Given the description of an element on the screen output the (x, y) to click on. 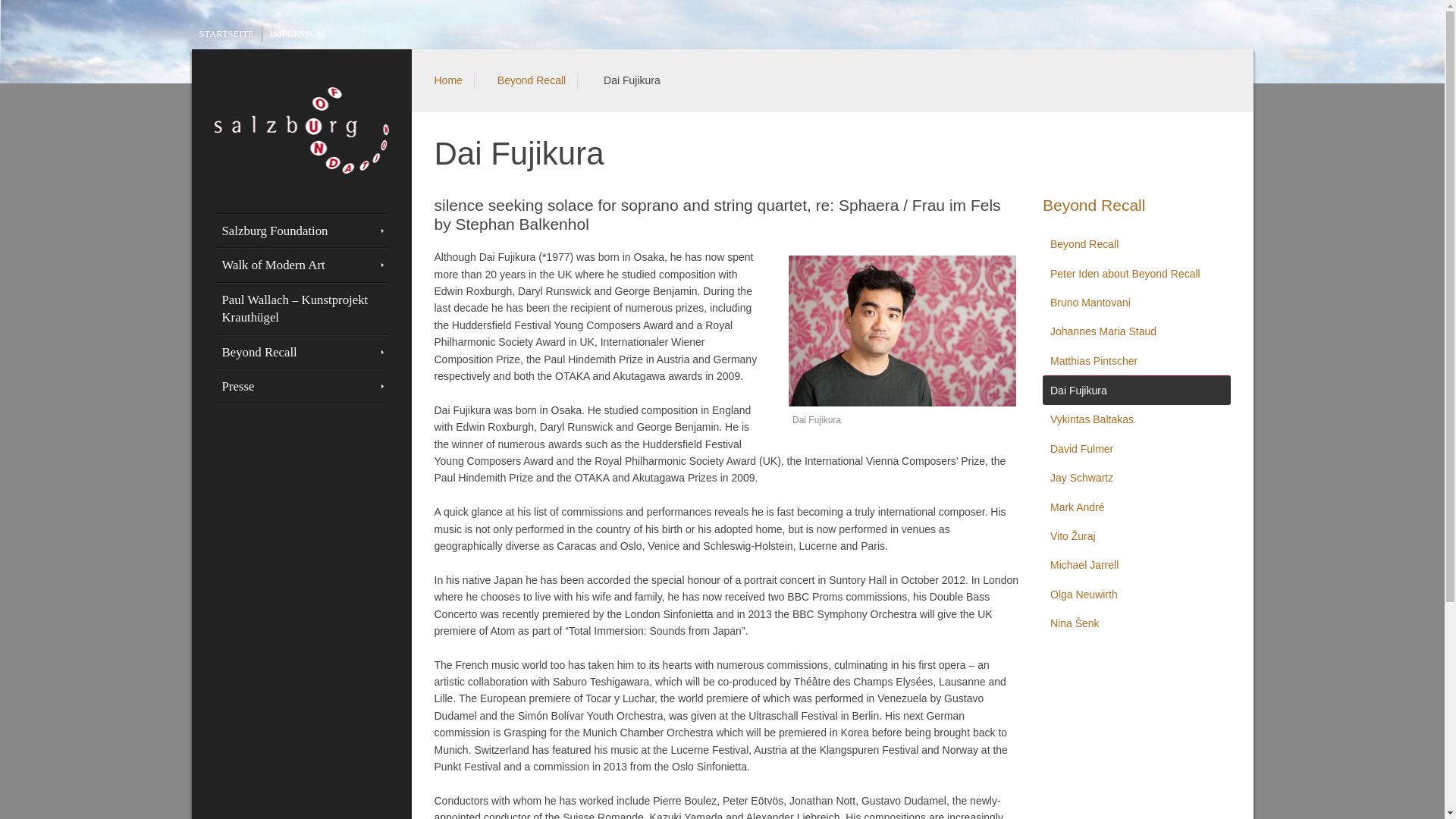
Beyond Recall (301, 352)
STARTSEITE (225, 33)
Walk of Modern Art (301, 264)
Salzburg Foundation (301, 231)
IMPRESSUM (297, 33)
Presse (301, 386)
